Given the description of an element on the screen output the (x, y) to click on. 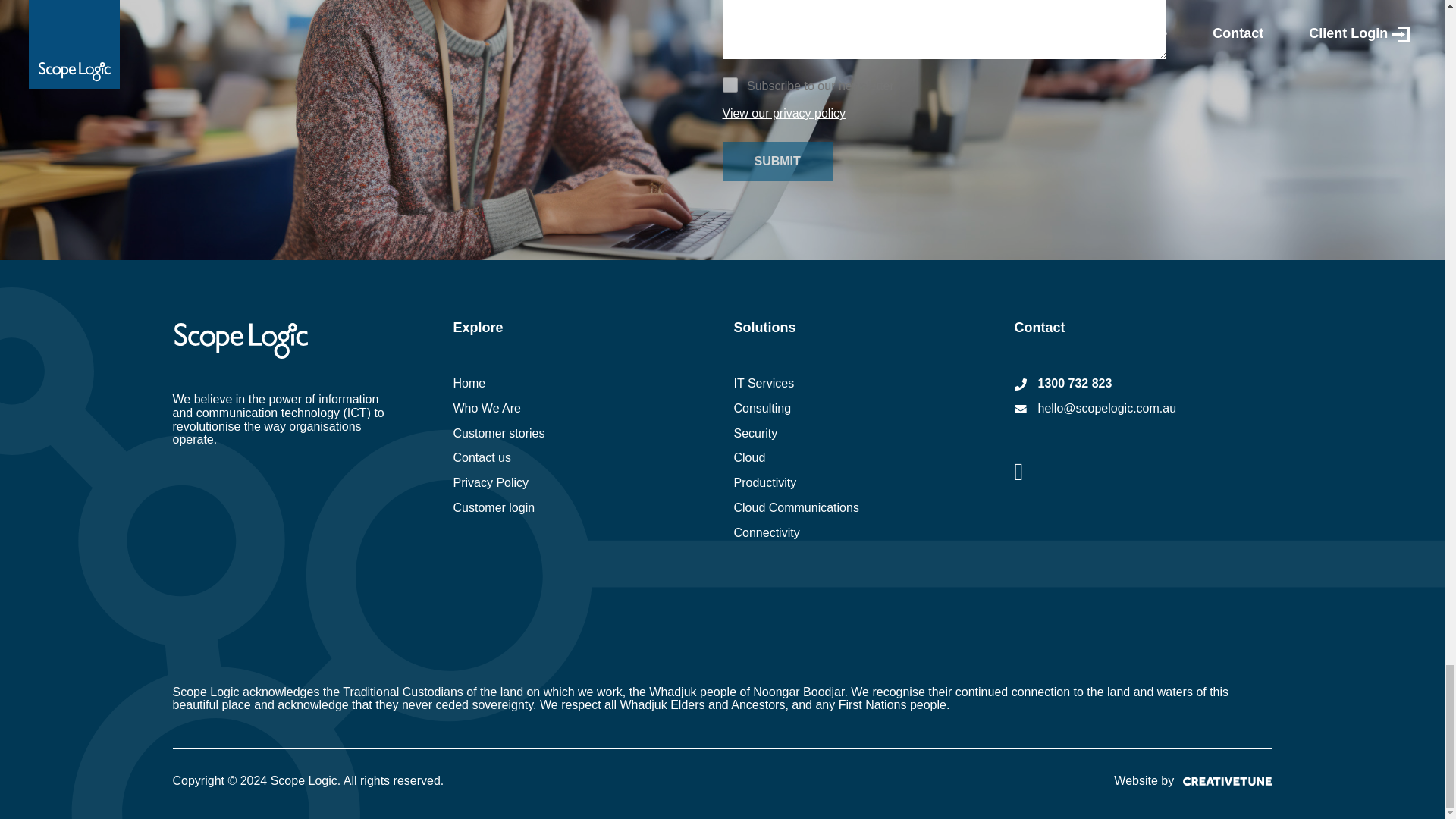
Subscribe to our newsletter (729, 84)
Submit (776, 160)
